Given the description of an element on the screen output the (x, y) to click on. 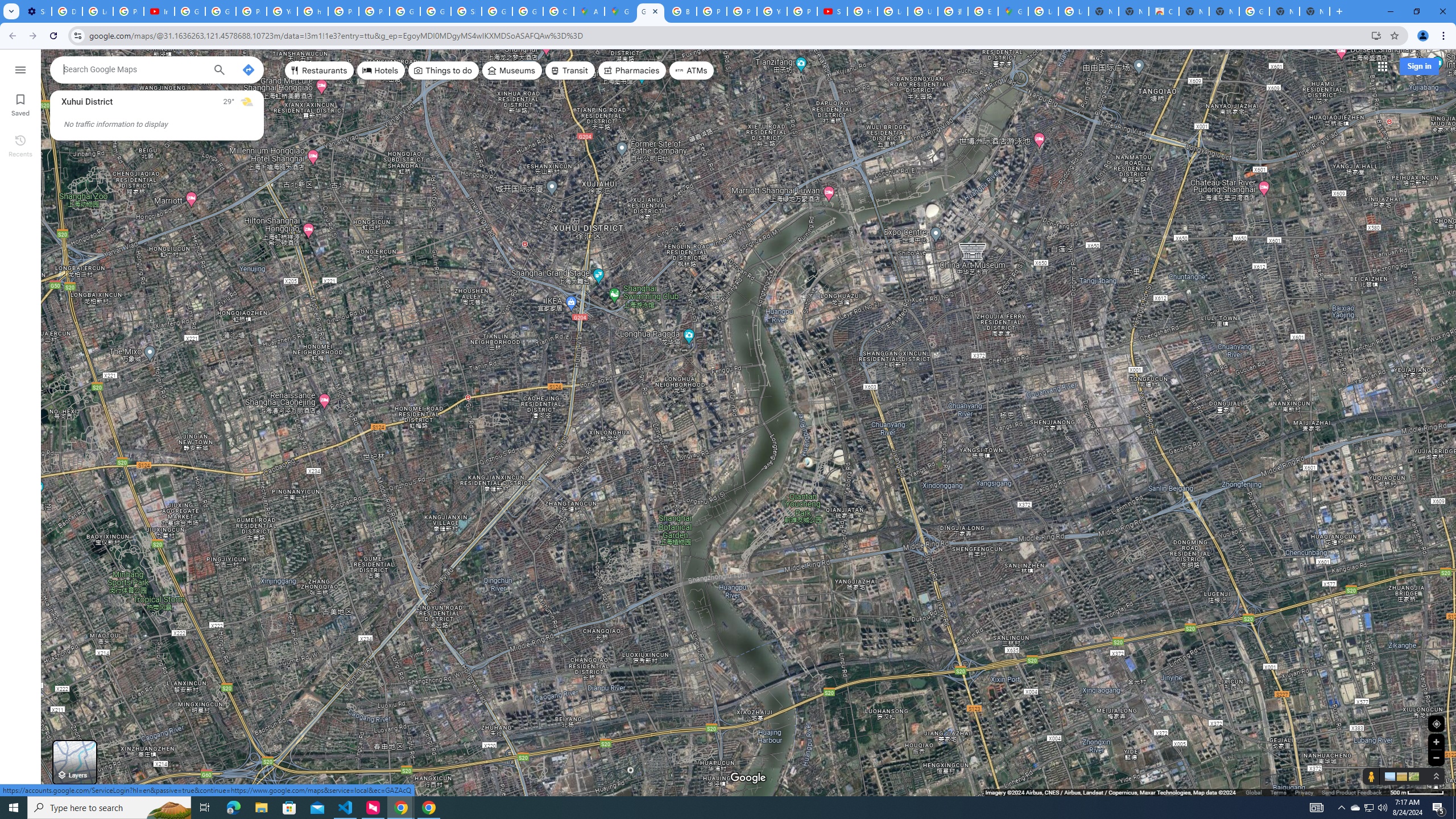
Google Account Help (220, 11)
Create your Google Account (558, 11)
Sign in - Google Accounts (465, 11)
Install Google Maps (1376, 35)
https://scholar.google.com/ (312, 11)
Terms (1278, 792)
Search Google Maps (133, 69)
Google apps (1381, 66)
Directions (247, 69)
